Given the description of an element on the screen output the (x, y) to click on. 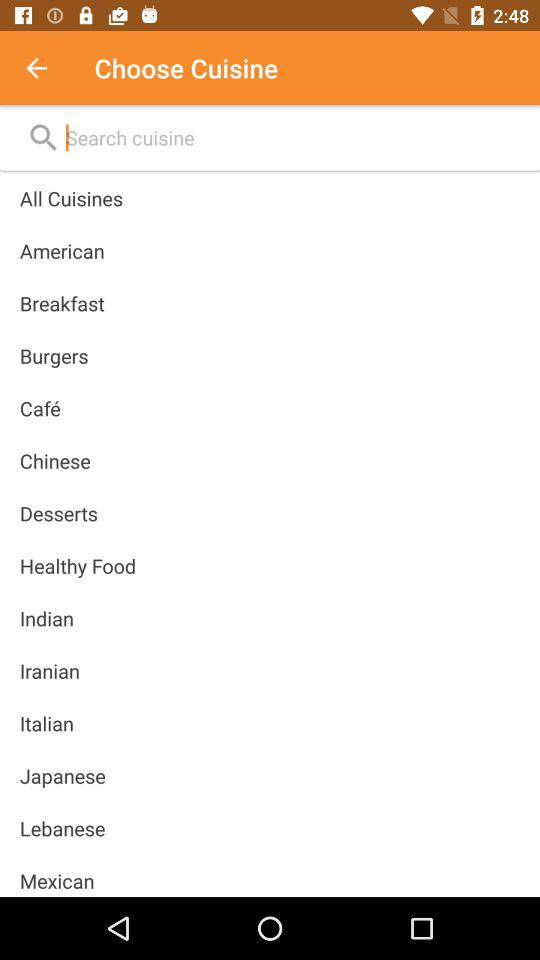
choose icon above desserts item (54, 460)
